Given the description of an element on the screen output the (x, y) to click on. 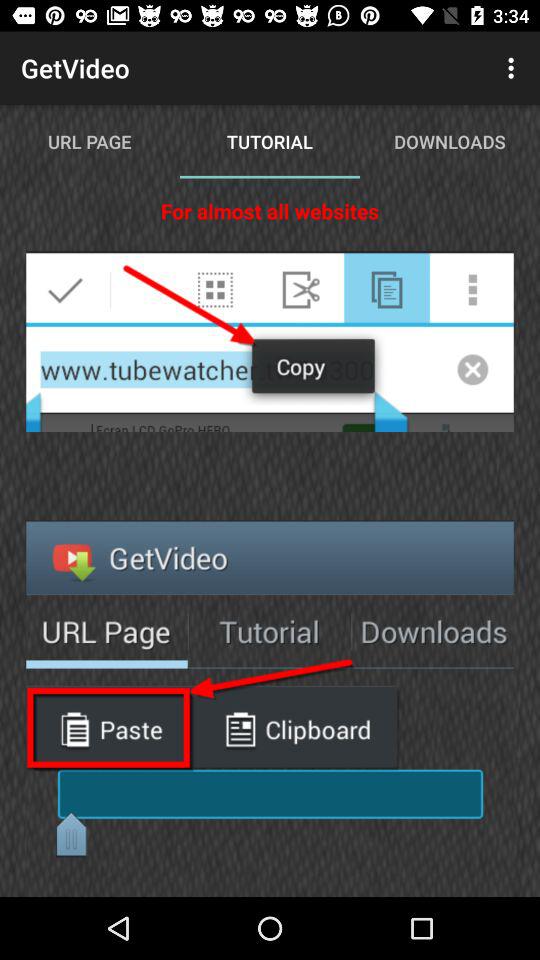
turn on item next to the tutorial item (513, 67)
